Given the description of an element on the screen output the (x, y) to click on. 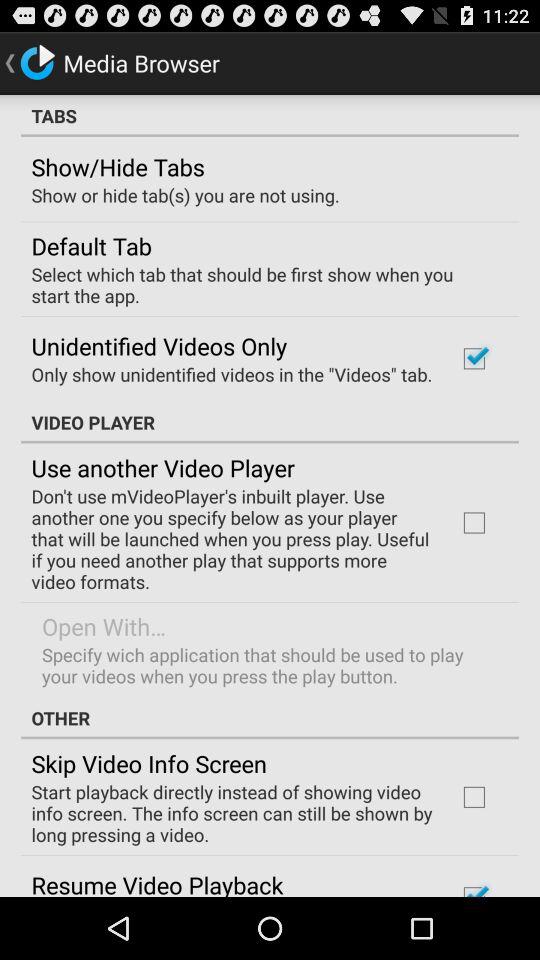
turn on the default tab (91, 245)
